Given the description of an element on the screen output the (x, y) to click on. 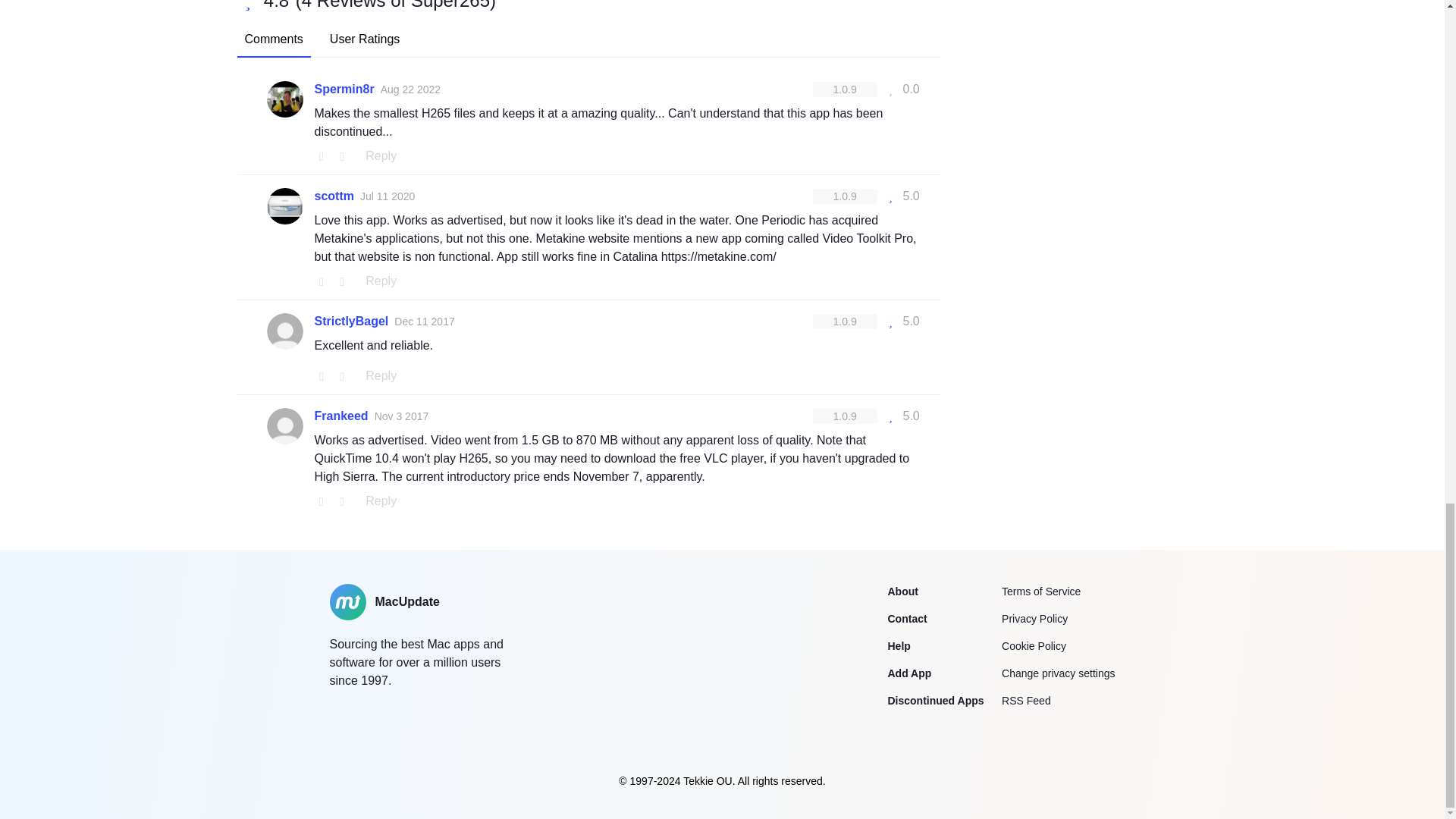
Version: 1.0.9 (844, 196)
Version: 1.0.9 (844, 321)
Version: 1.0.9 (844, 416)
Frankeed (341, 416)
Spermin8r (344, 89)
StrictlyBagel (351, 321)
Version: 1.0.9 (844, 89)
scottm (333, 196)
